Given the description of an element on the screen output the (x, y) to click on. 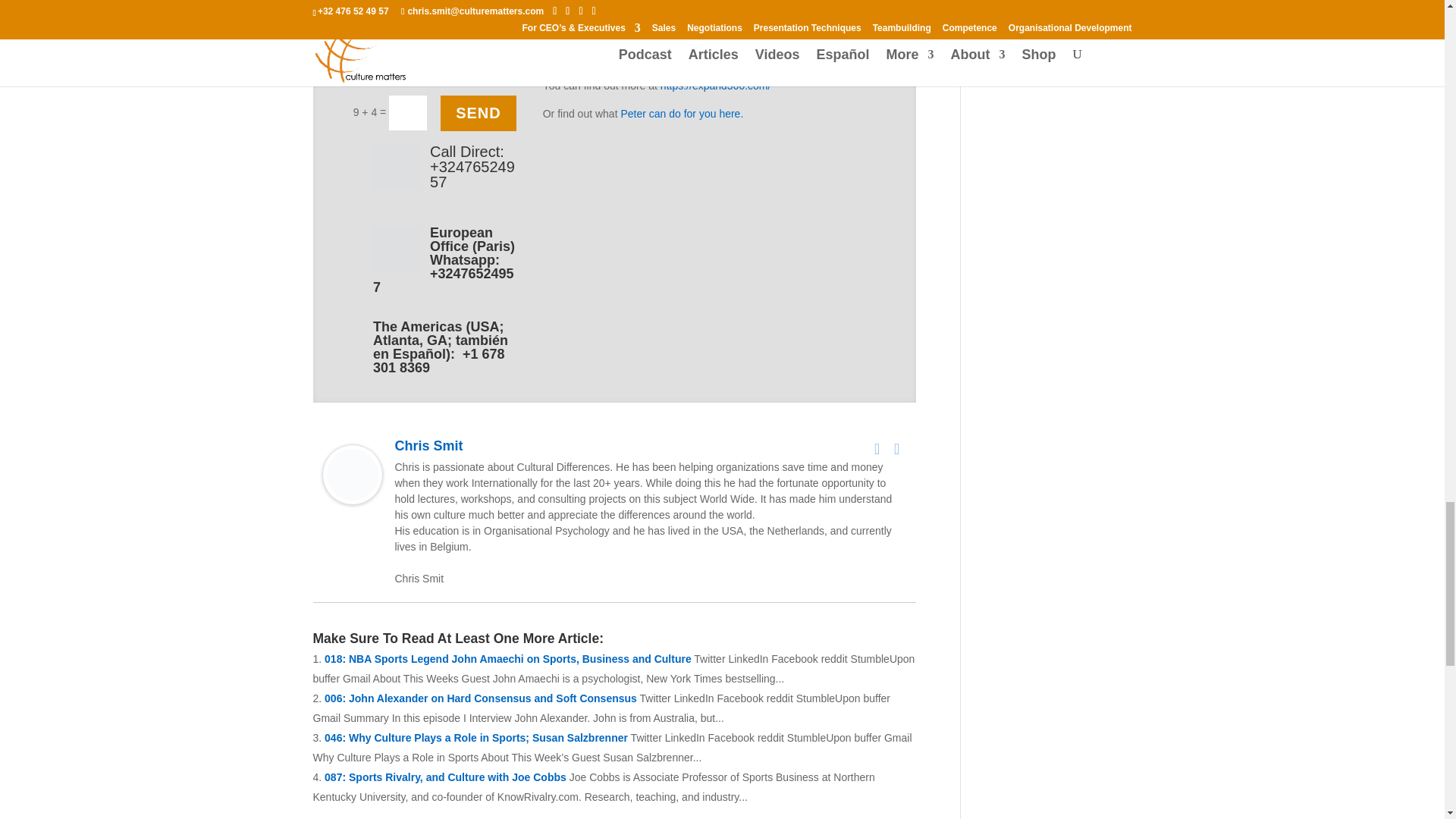
Twitter (896, 448)
Chris Smit (351, 494)
006: John Alexander on Hard Consensus and Soft Consensus (480, 698)
Facebook (876, 448)
046: Why Culture Plays a Role in Sports; Susan Salzbrenner (475, 737)
